Given the description of an element on the screen output the (x, y) to click on. 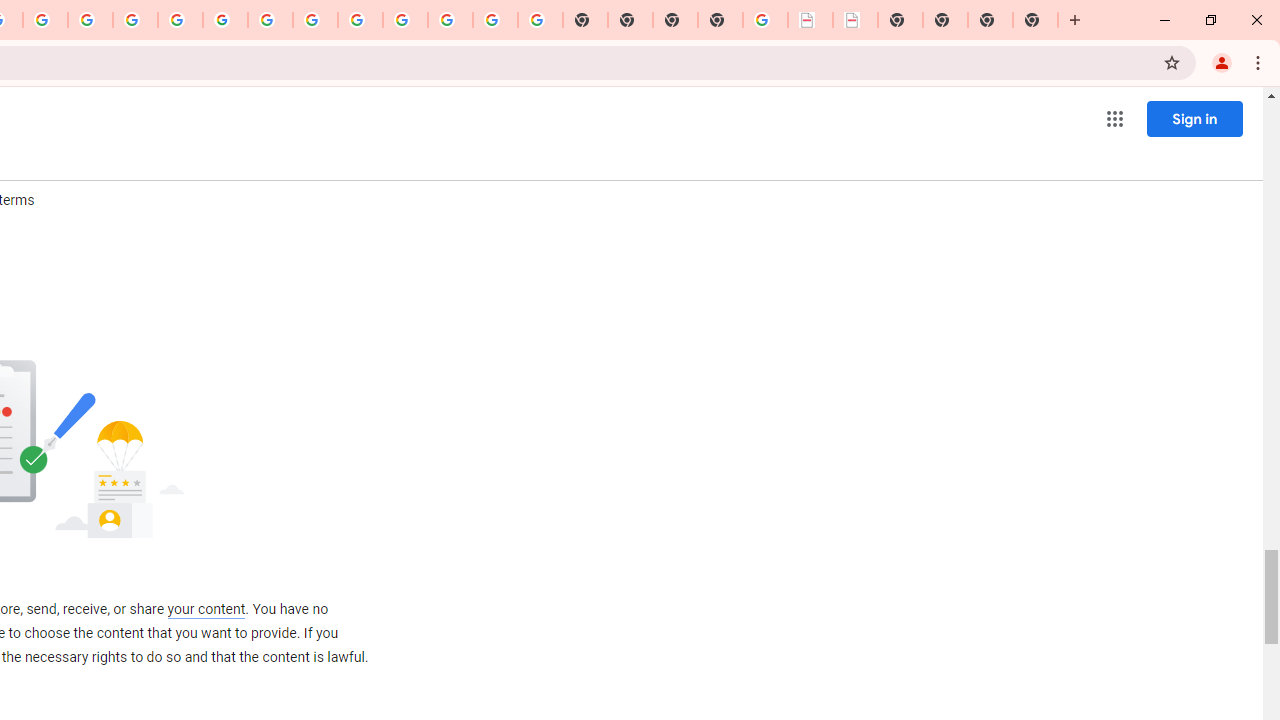
Privacy Help Center - Policies Help (89, 20)
YouTube (270, 20)
New Tab (1035, 20)
Privacy Help Center - Policies Help (134, 20)
